Given the description of an element on the screen output the (x, y) to click on. 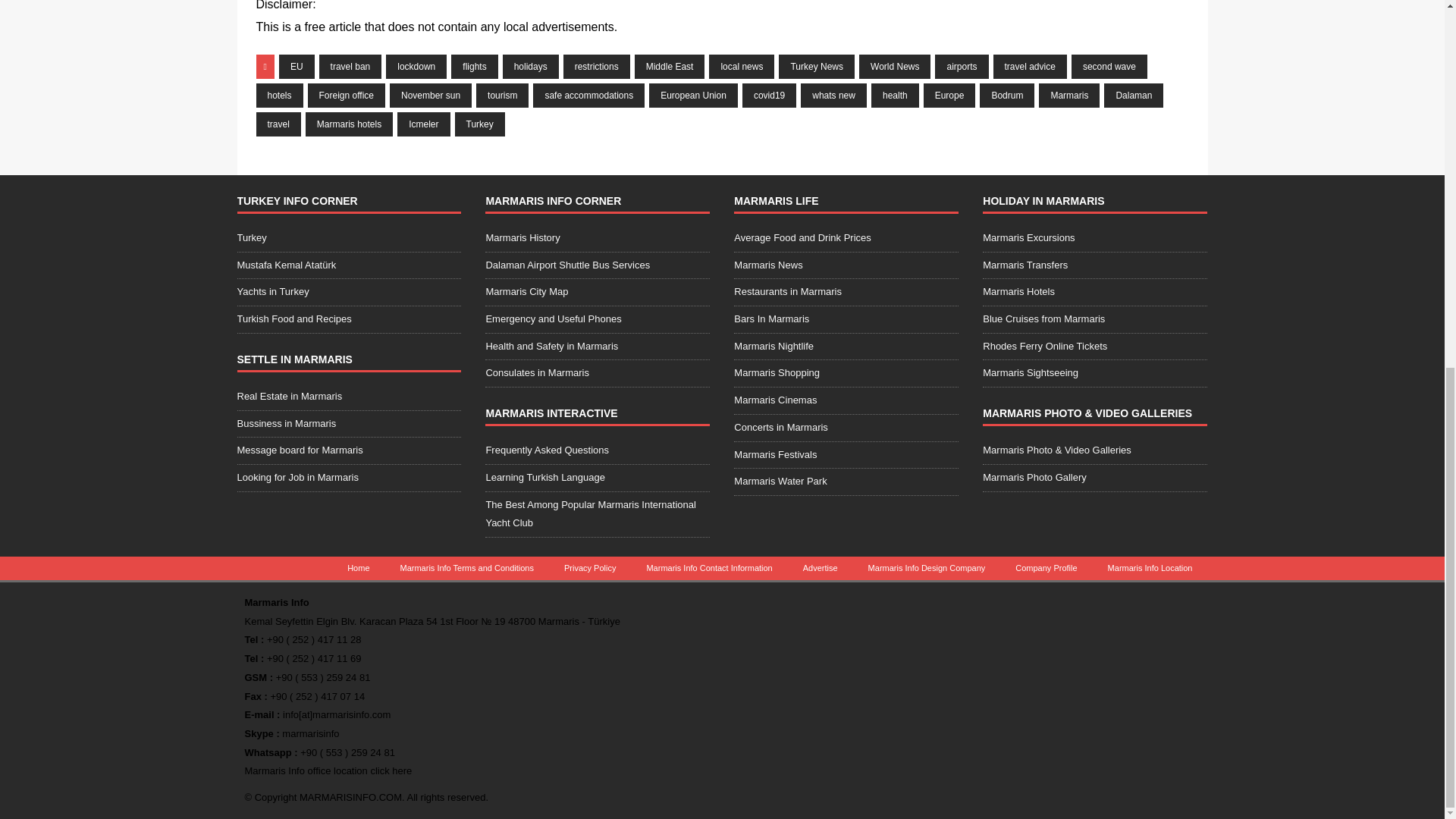
lockdown (415, 66)
holidays (530, 66)
Middle East (669, 66)
flights (474, 66)
local news (741, 66)
Bars In Marmaris Now Open (845, 319)
Turkey News (816, 66)
travel ban (349, 66)
EU (296, 66)
restrictions (596, 66)
